Given the description of an element on the screen output the (x, y) to click on. 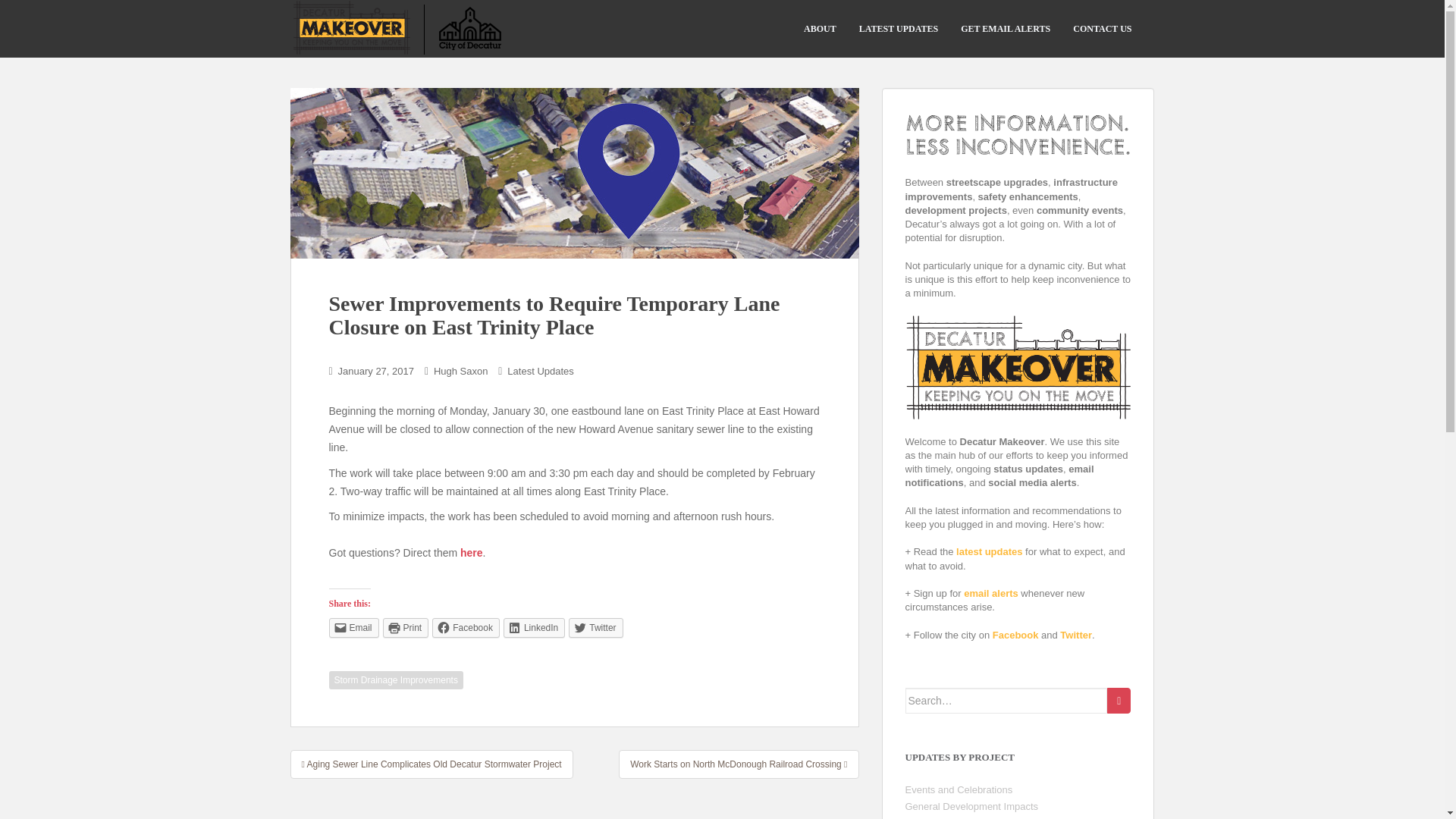
Latest Updates (539, 370)
Click to print (405, 628)
ABOUT (819, 28)
Latest Updates (898, 28)
latest updates (989, 551)
Twitter (596, 628)
Events and Celebrations (959, 789)
Click to share on Twitter (596, 628)
email alerts (990, 593)
Aging Sewer Line Complicates Old Decatur Stormwater Project (430, 764)
Storm Drainage Improvements (396, 679)
Click to share on Facebook (465, 628)
Contact Us (1101, 28)
Email (353, 628)
General Development Impacts (972, 806)
